Given the description of an element on the screen output the (x, y) to click on. 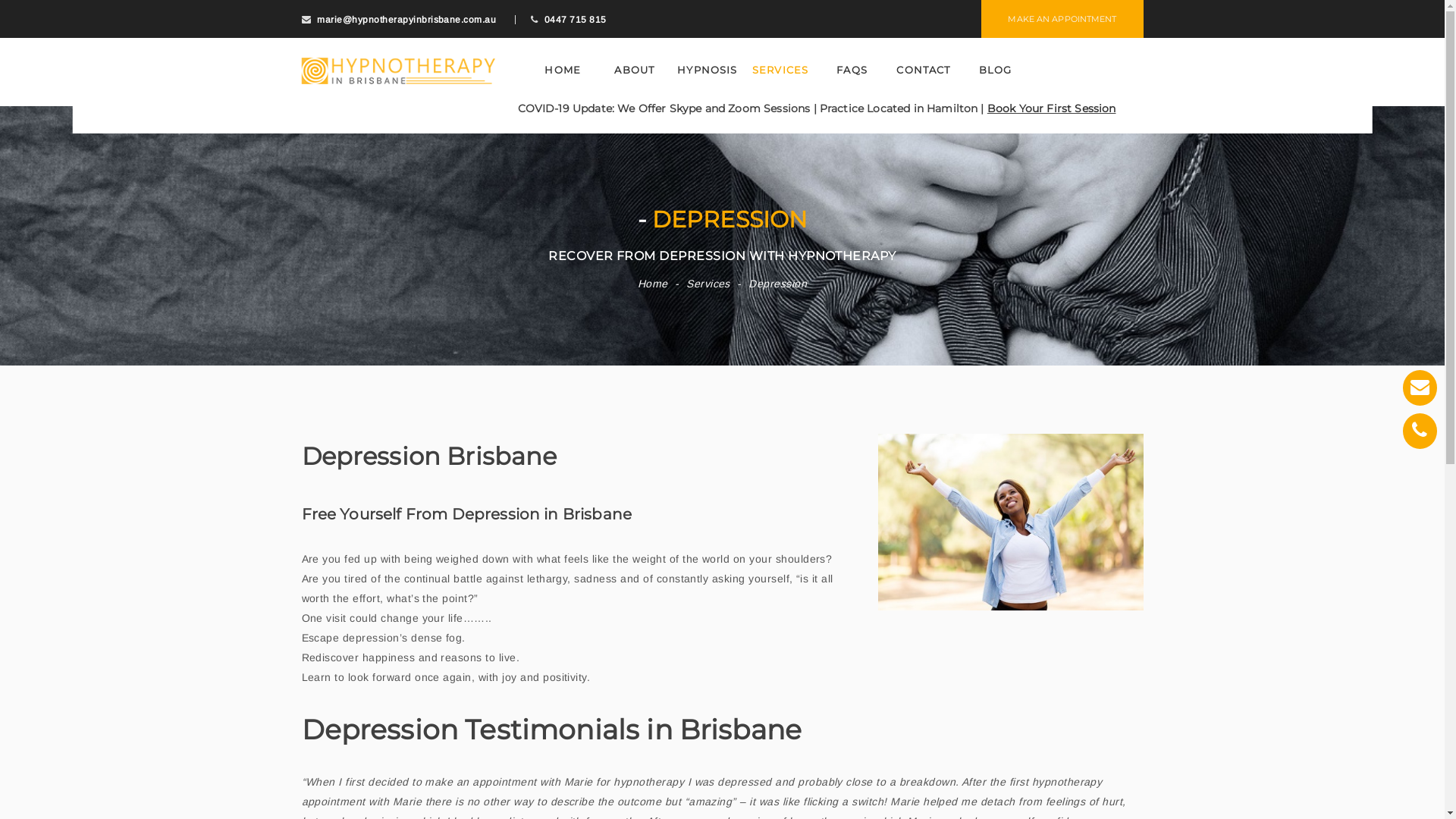
Email Us Element type: hover (1419, 387)
Services Element type: text (708, 283)
SERVICES Element type: text (780, 69)
CONTACT Element type: text (923, 69)
FAQS Element type: text (852, 69)
HOME Element type: text (562, 69)
ABOUT Element type: text (634, 69)
Call Us Element type: hover (1419, 430)
BLOG Element type: text (995, 69)
HYPNOSIS Element type: text (706, 69)
marie@hypnotherapyinbrisbane.com.au Element type: text (405, 19)
Book Your First Session Element type: text (1051, 108)
Home Element type: text (652, 283)
MAKE AN APPOINTMENT Element type: text (1061, 18)
0447 715 815 Element type: text (575, 19)
